Given the description of an element on the screen output the (x, y) to click on. 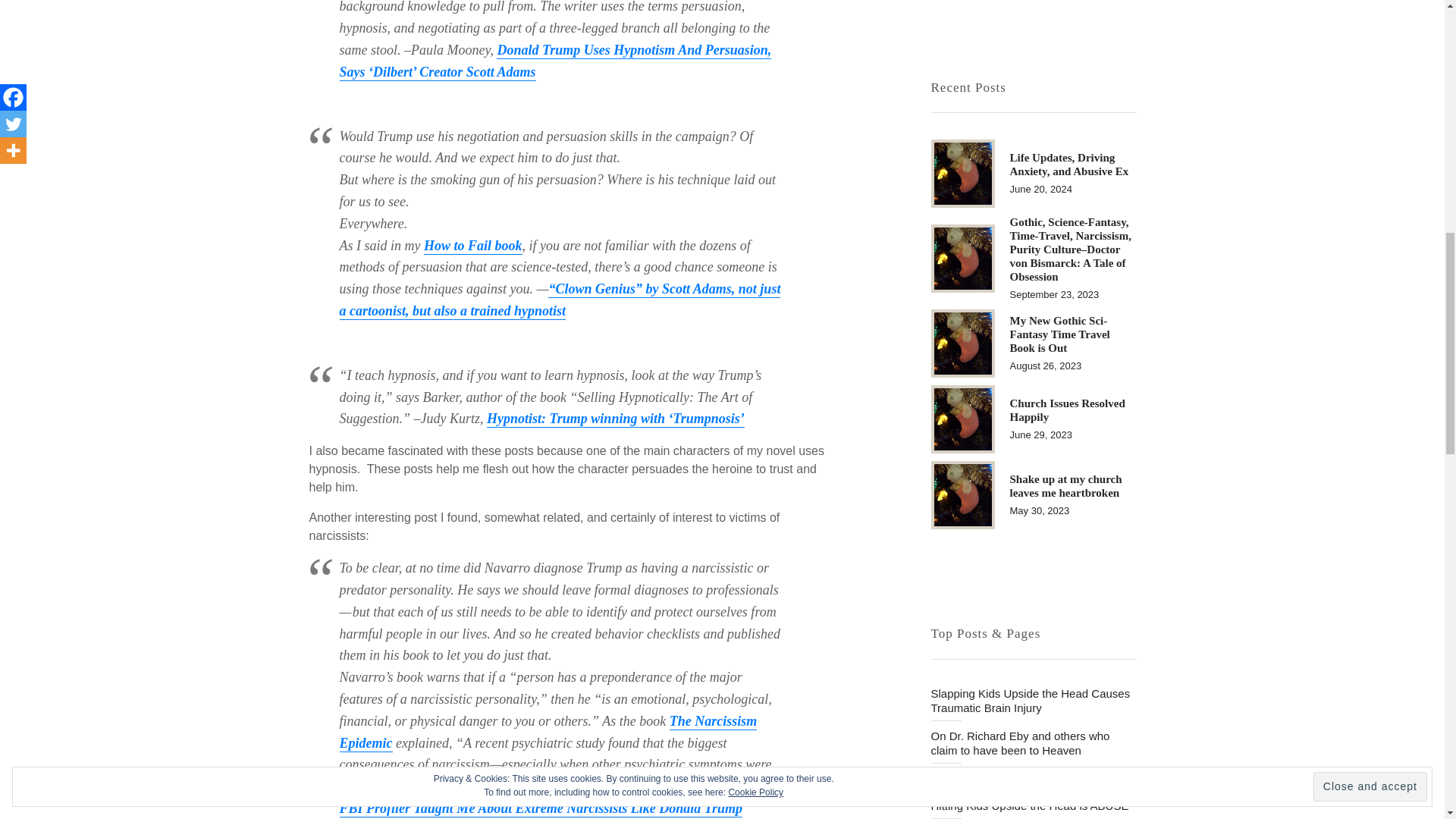
How to Fail book (472, 246)
The Narcissism Epidemic (548, 732)
Life Updates, Driving Anxiety, and Abusive Ex (962, 172)
